Given the description of an element on the screen output the (x, y) to click on. 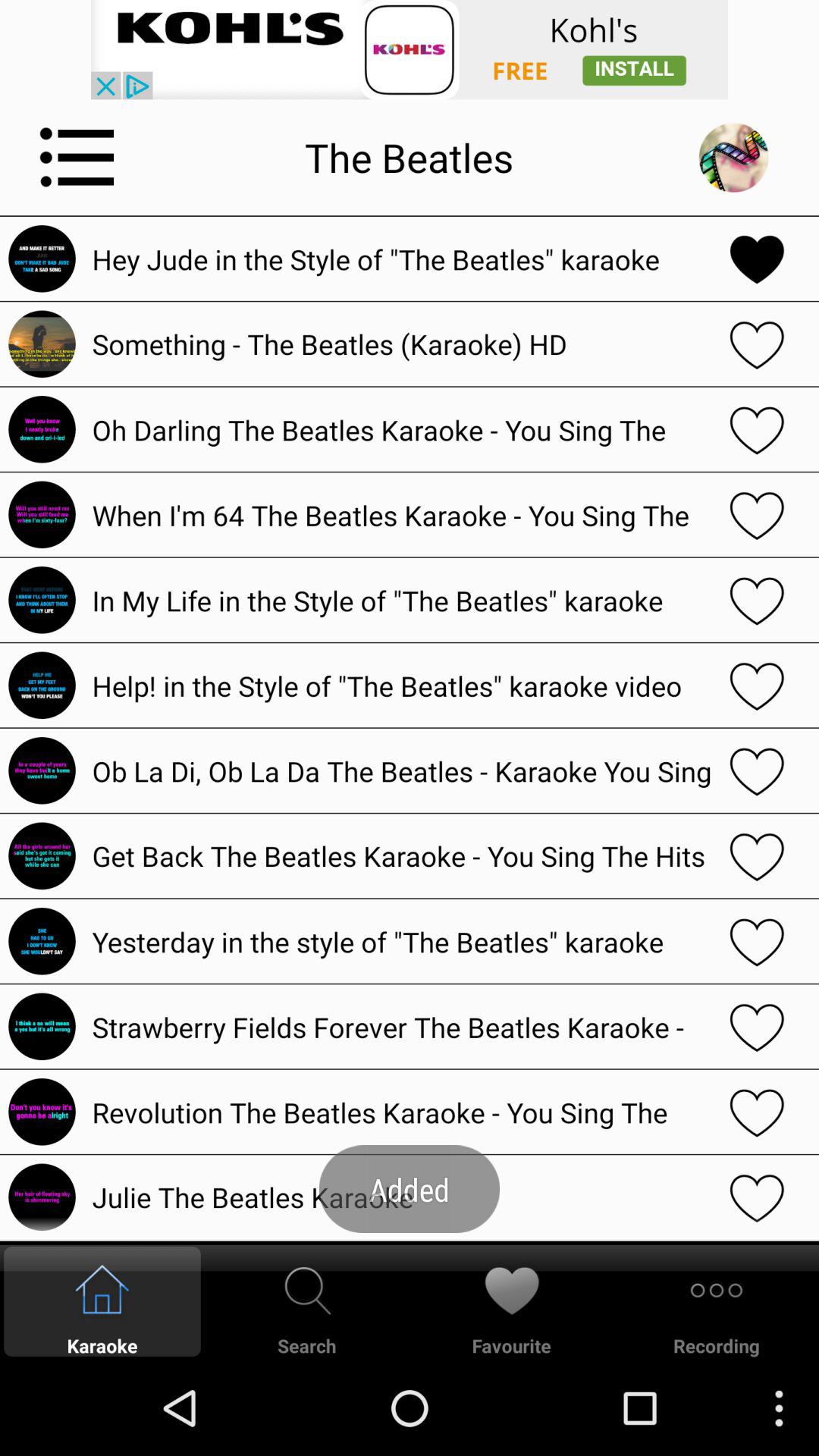
select song (756, 770)
